Given the description of an element on the screen output the (x, y) to click on. 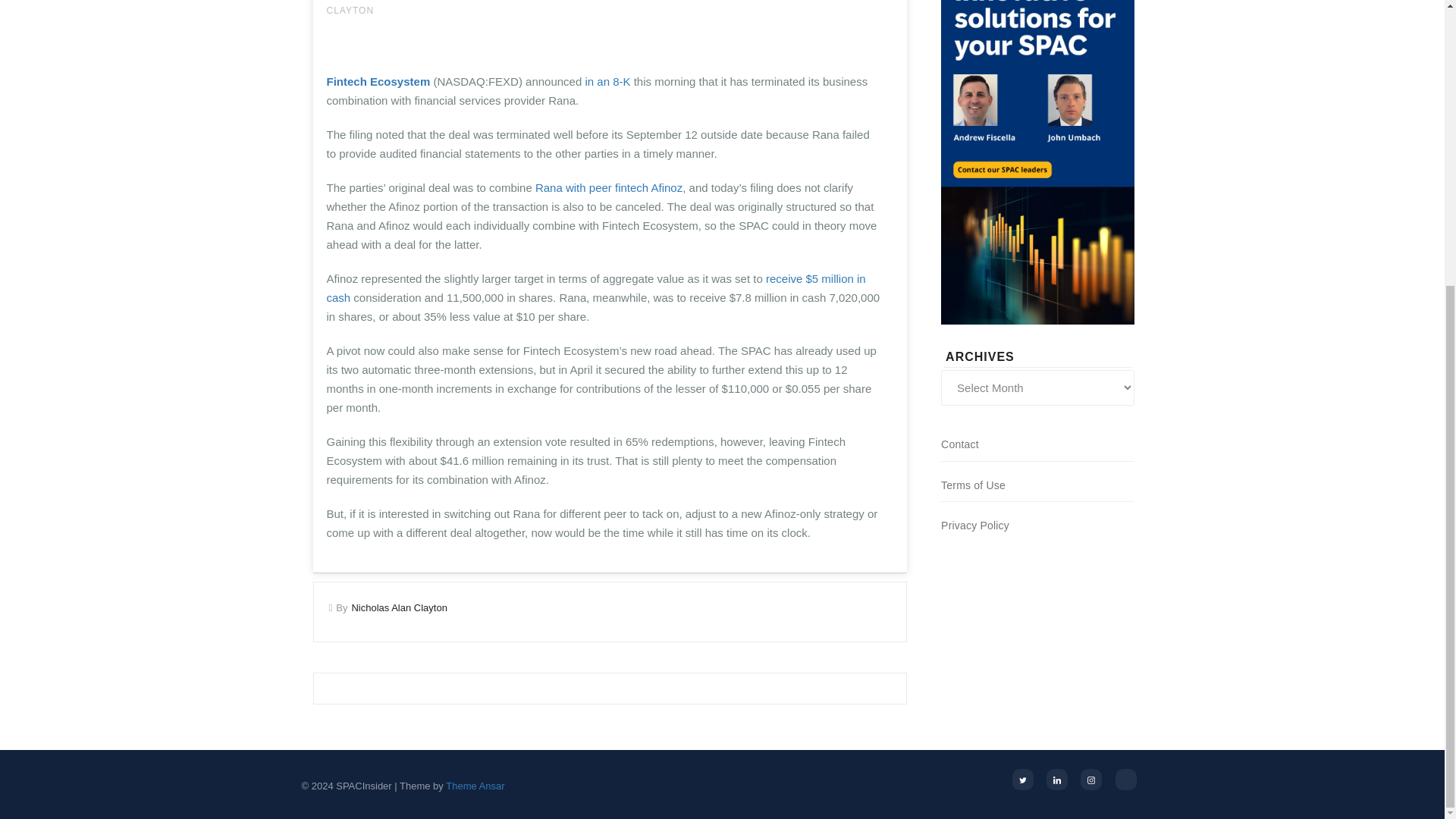
Theme Ansar (474, 785)
Contact (959, 444)
Nicholas Alan Clayton (398, 607)
Terms of Use (973, 485)
Twitter (1022, 779)
BY NICHOLAS ALAN CLAYTON (584, 7)
Rana with peer fintech Afinoz (608, 187)
Apple Podcasts (1125, 779)
Fintech Ecosystem (377, 81)
LinkedIn (1056, 779)
